Given the description of an element on the screen output the (x, y) to click on. 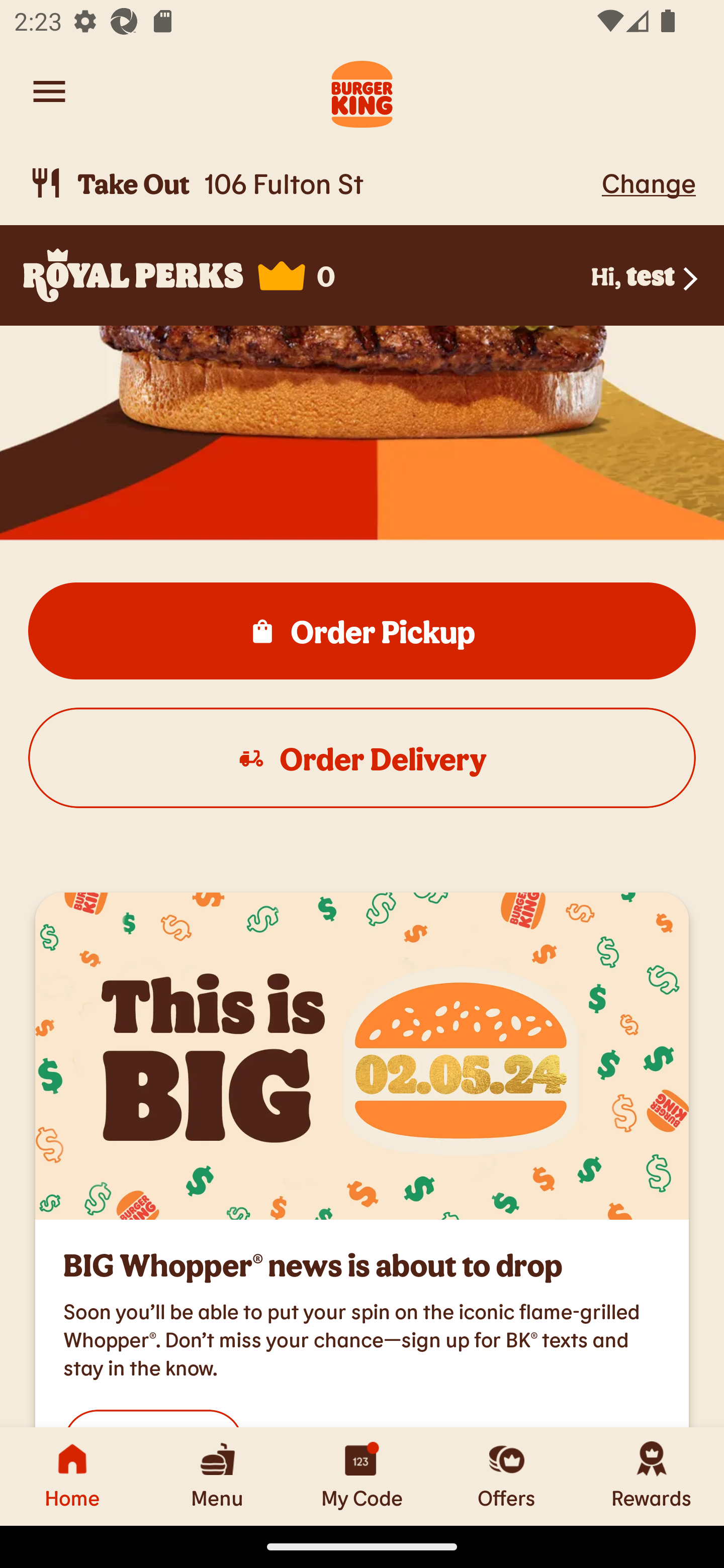
Burger King Logo. Navigate to Home (362, 91)
Navigate to account menu  (49, 91)
Take Out, 106 Fulton St  Take Out 106 Fulton St (311, 183)
Change (648, 182)
, Order Pickup  Order Pickup (361, 629)
, Order Delivery  Order Delivery (361, 757)
MDW Teaser Auth App (361, 1055)
Home (72, 1475)
Menu (216, 1475)
My Code (361, 1475)
Offers (506, 1475)
Rewards (651, 1475)
